Given the description of an element on the screen output the (x, y) to click on. 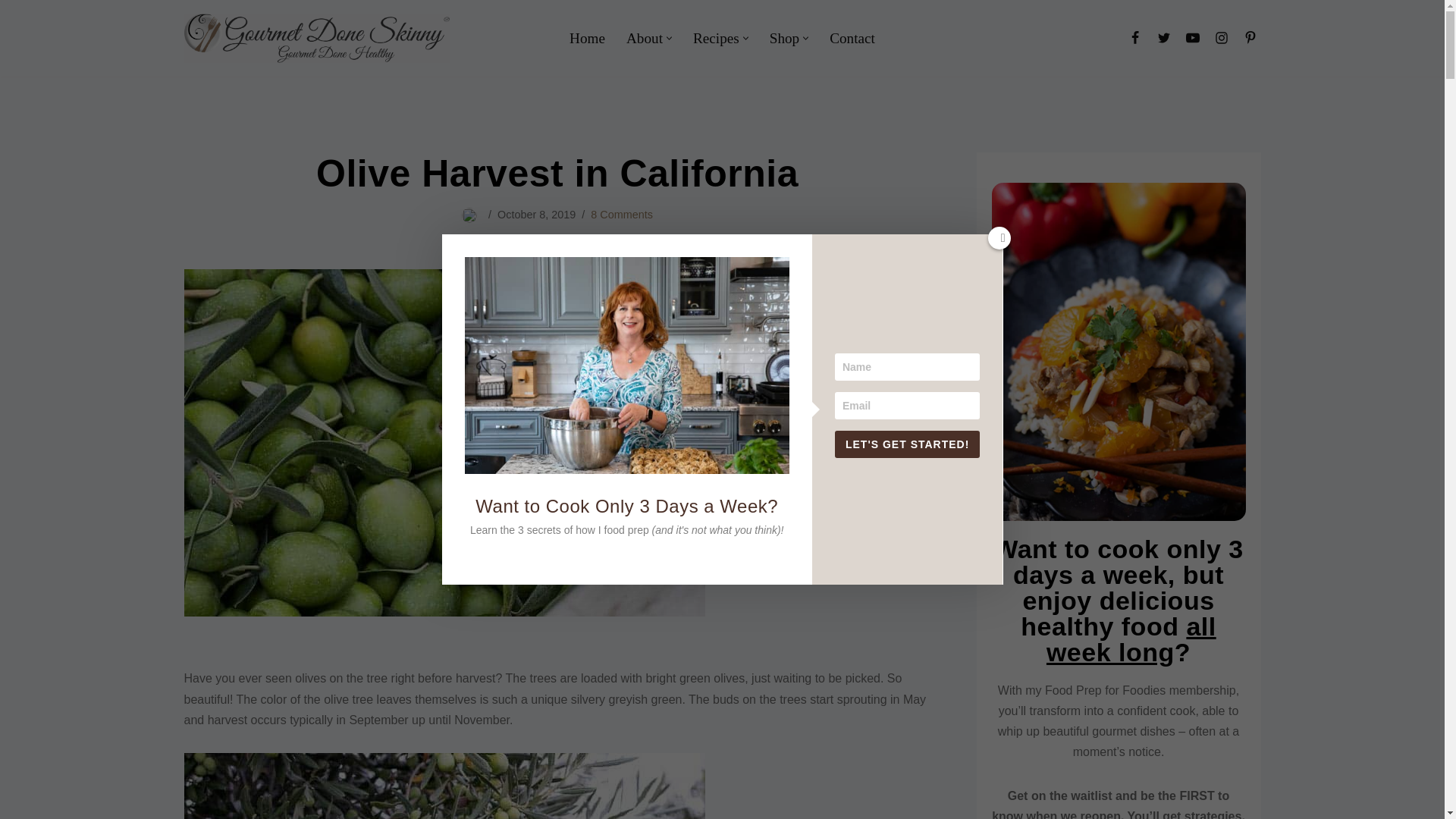
Pinterest (1249, 37)
Shop (784, 38)
Contact (852, 38)
Skip to content (11, 31)
About (644, 38)
Facebook (1134, 37)
Twitter (1163, 37)
Recipes (716, 38)
Instagram (1220, 37)
Home (587, 38)
Youtube (1191, 37)
